Given the description of an element on the screen output the (x, y) to click on. 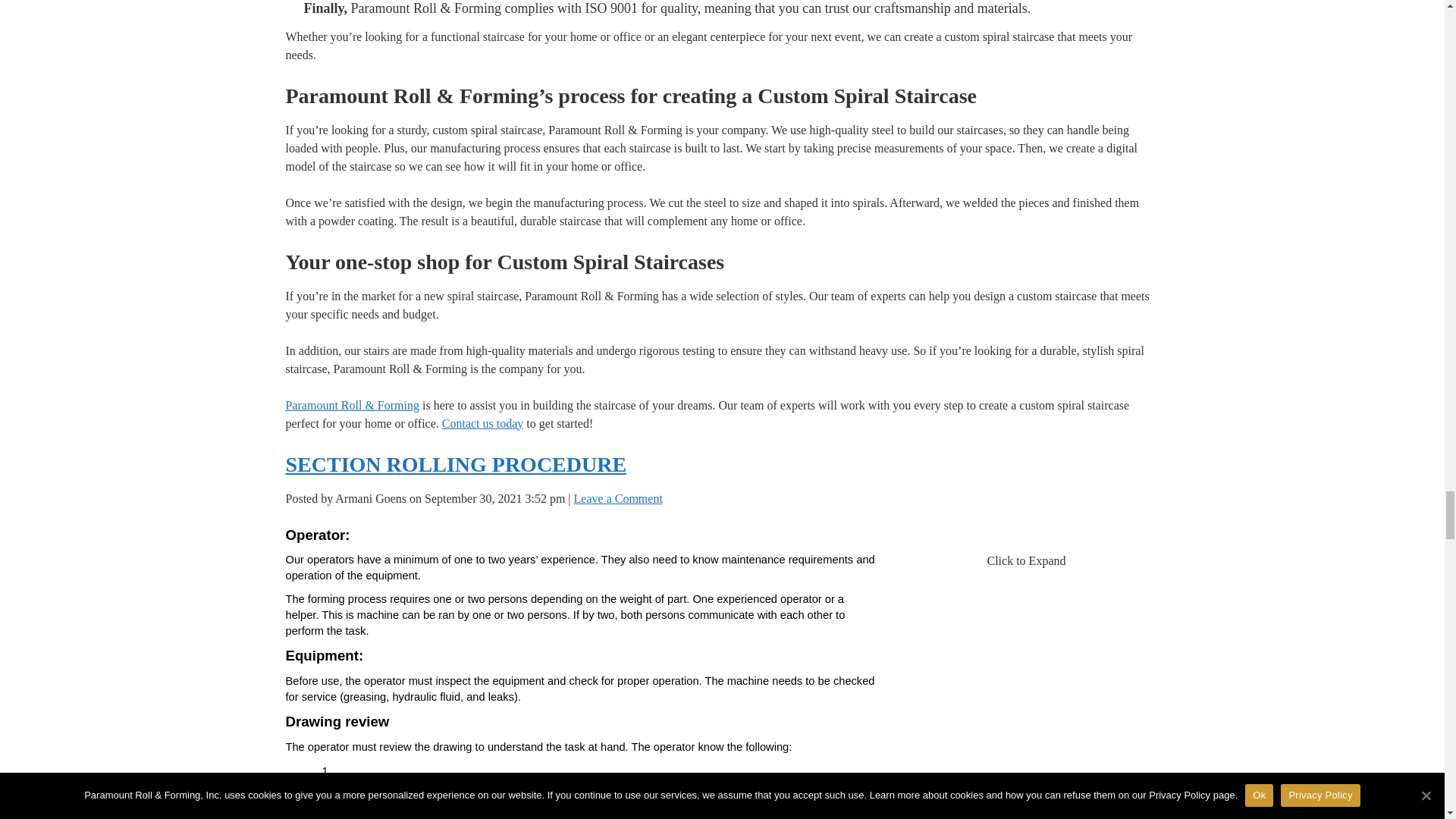
Section Rolling Procedure (1025, 626)
Permalink to SECTION ROLLING PROCEDURE (455, 463)
